Given the description of an element on the screen output the (x, y) to click on. 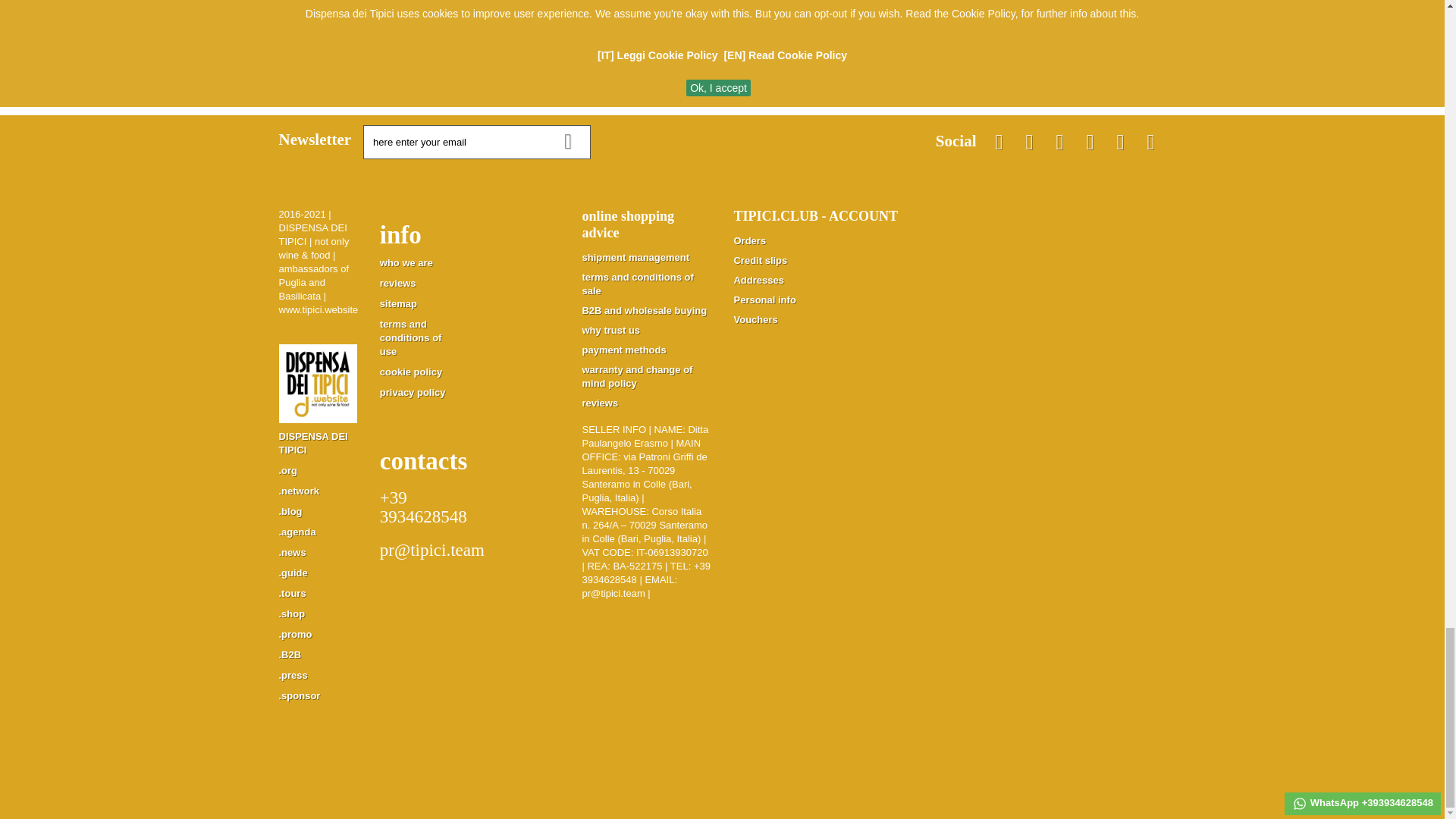
here enter your email (476, 141)
